Given the description of an element on the screen output the (x, y) to click on. 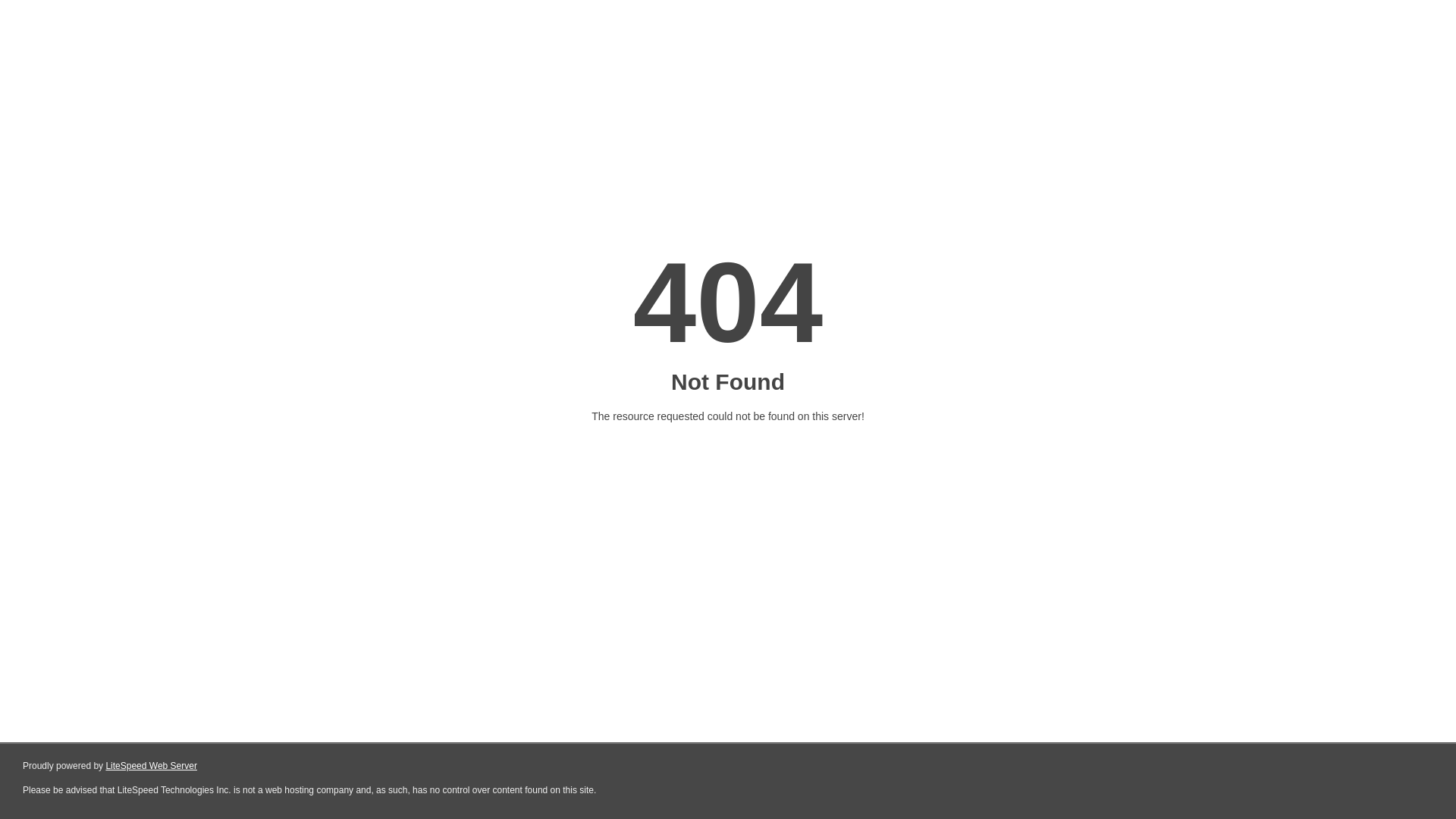
LiteSpeed Web Server Element type: text (151, 765)
